Given the description of an element on the screen output the (x, y) to click on. 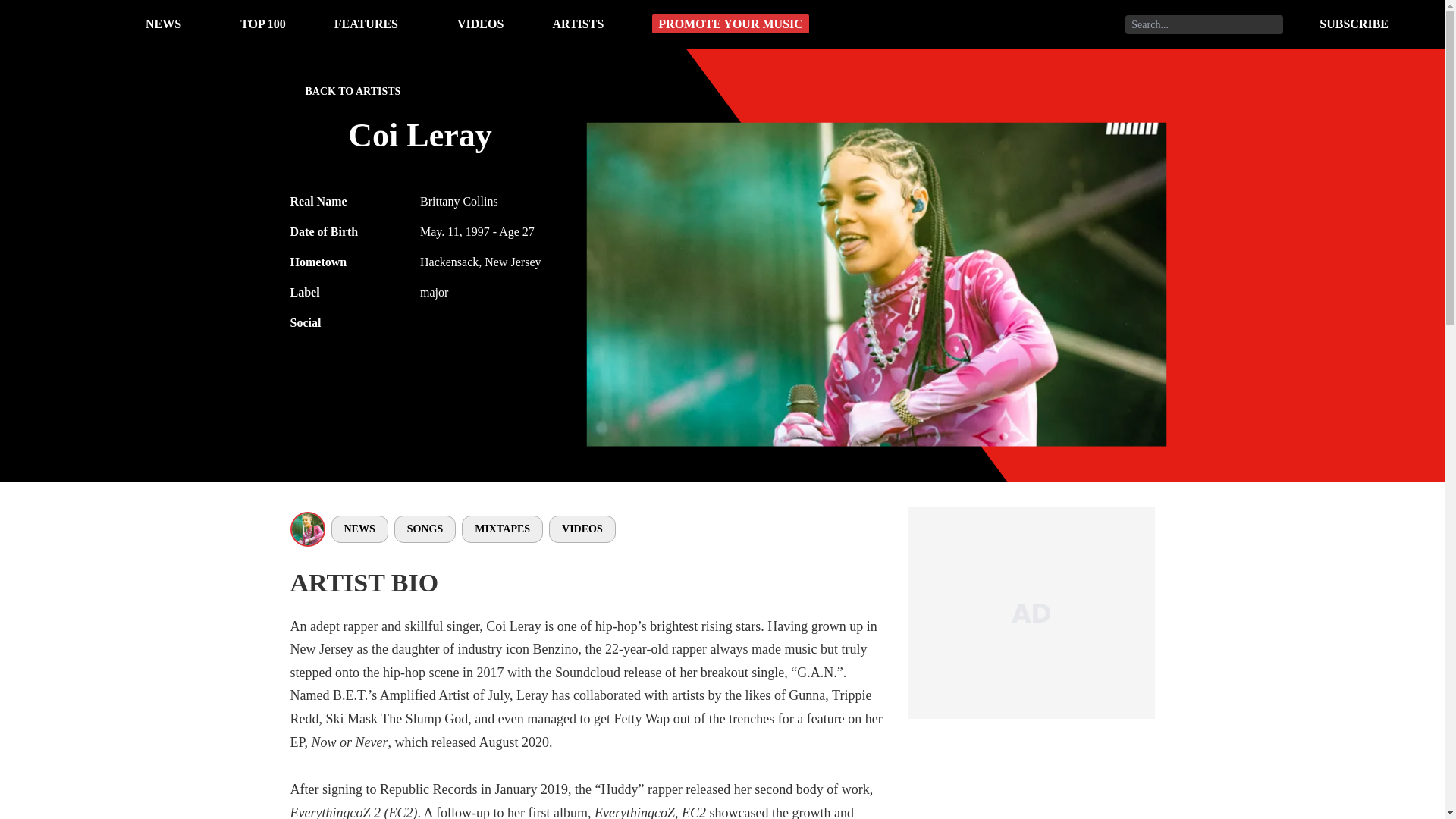
NEWS (162, 23)
VIDEOS (480, 23)
MIXTAPES (502, 528)
TOP 100 (262, 23)
NEWS (358, 528)
VIDEOS (581, 528)
ARTISTS (577, 23)
FEATURES (365, 23)
BACK TO ARTISTS (344, 93)
SONGS (424, 528)
PROMOTE YOUR MUSIC (730, 23)
